Given the description of an element on the screen output the (x, y) to click on. 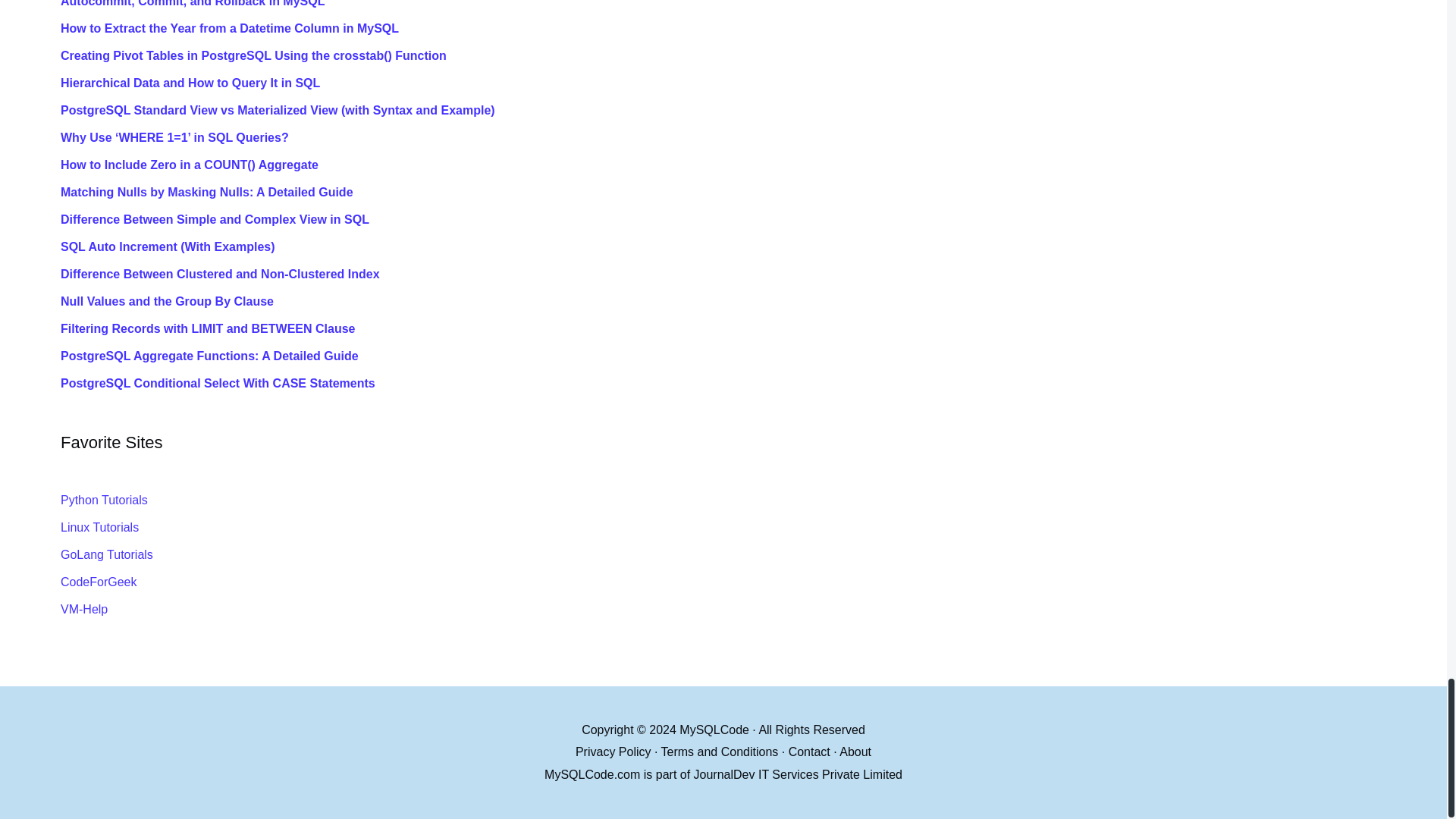
Null Values and the Group By Clause (746, 301)
Filtering Records with LIMIT and BETWEEN Clause (746, 328)
Linux Tutorials (99, 526)
How to Extract the Year from a Datetime Column in MySQL (746, 28)
PostgreSQL Conditional Select With CASE Statements (746, 383)
CodeForGeek (98, 581)
VM-Help (84, 608)
GoLang Tutorials (106, 554)
Matching Nulls by Masking Nulls: A Detailed Guide (746, 192)
Difference Between Simple and Complex View in SQL (746, 219)
About (855, 751)
Contact (809, 751)
Hierarchical Data and How to Query It in SQL (746, 83)
Python Tutorials (104, 499)
